Given the description of an element on the screen output the (x, y) to click on. 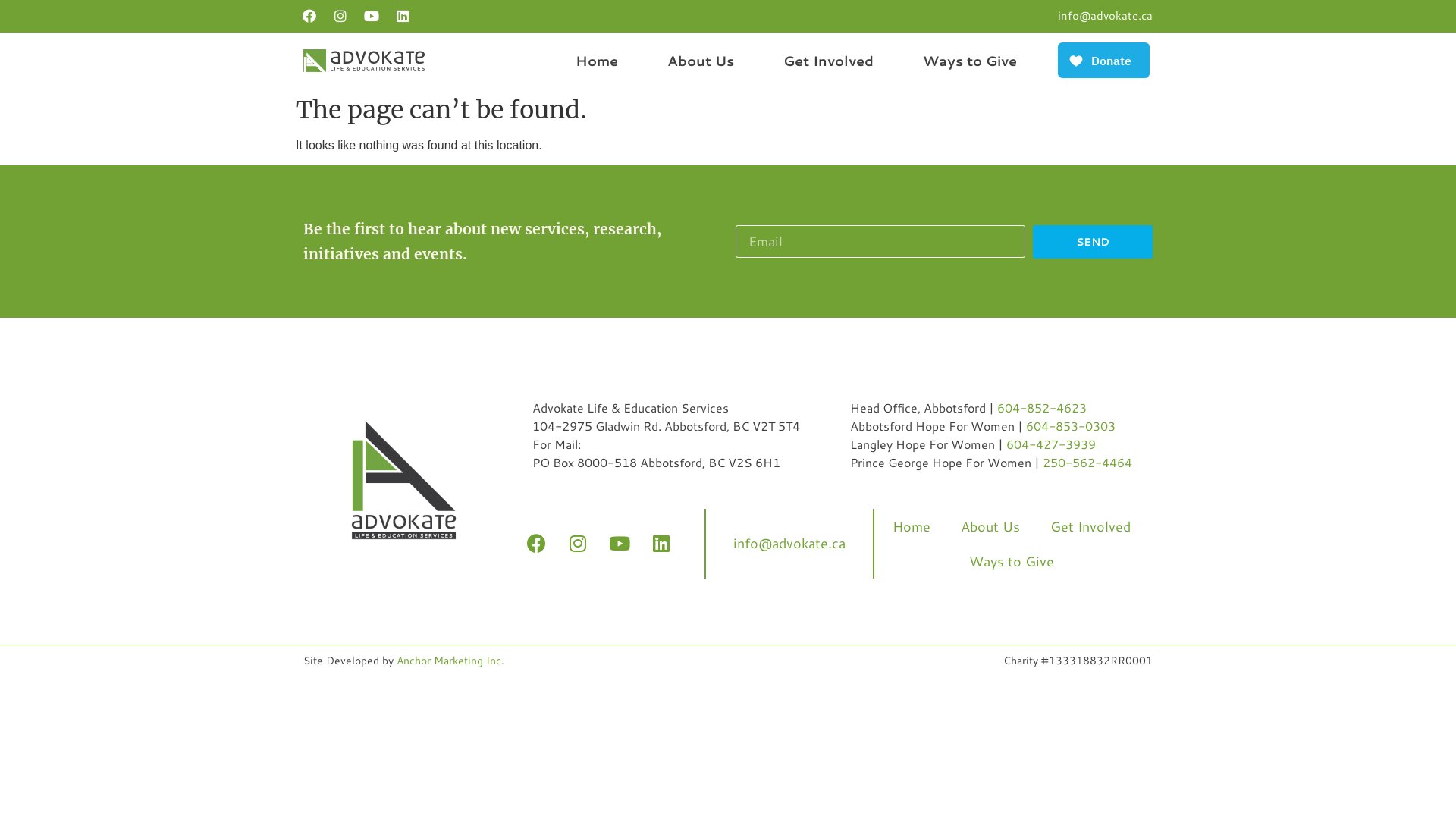
Anchor Marketing Inc. Element type: text (450, 660)
Home Element type: text (596, 60)
250-562-4464 Element type: text (1087, 461)
604-852-4623 Element type: text (1041, 407)
Donate Button Element type: hover (1103, 60)
About Us Element type: text (990, 525)
SEND Element type: text (1092, 240)
Ways to Give Element type: text (1011, 560)
About Us Element type: text (700, 60)
604-853-0303 Element type: text (1070, 425)
Home Element type: text (911, 525)
Get Involved Element type: text (1090, 525)
Ways to Give Element type: text (969, 60)
604-427-3939 Element type: text (1050, 443)
info@advokate.ca Element type: text (1104, 15)
Get Involved Element type: text (828, 60)
info@advokate.ca Element type: text (789, 542)
